Given the description of an element on the screen output the (x, y) to click on. 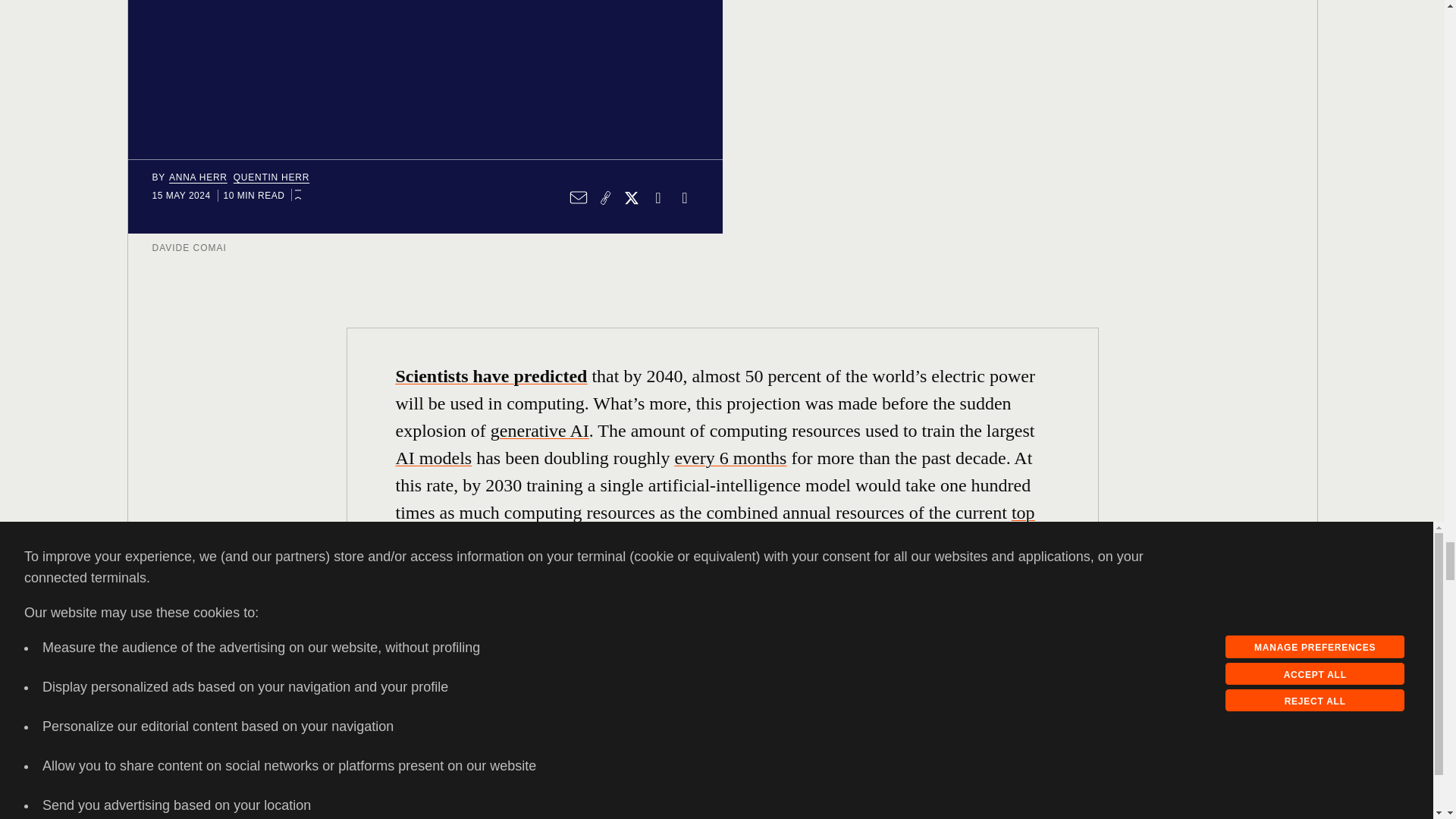
Copy this link to clipboard (604, 197)
